Given the description of an element on the screen output the (x, y) to click on. 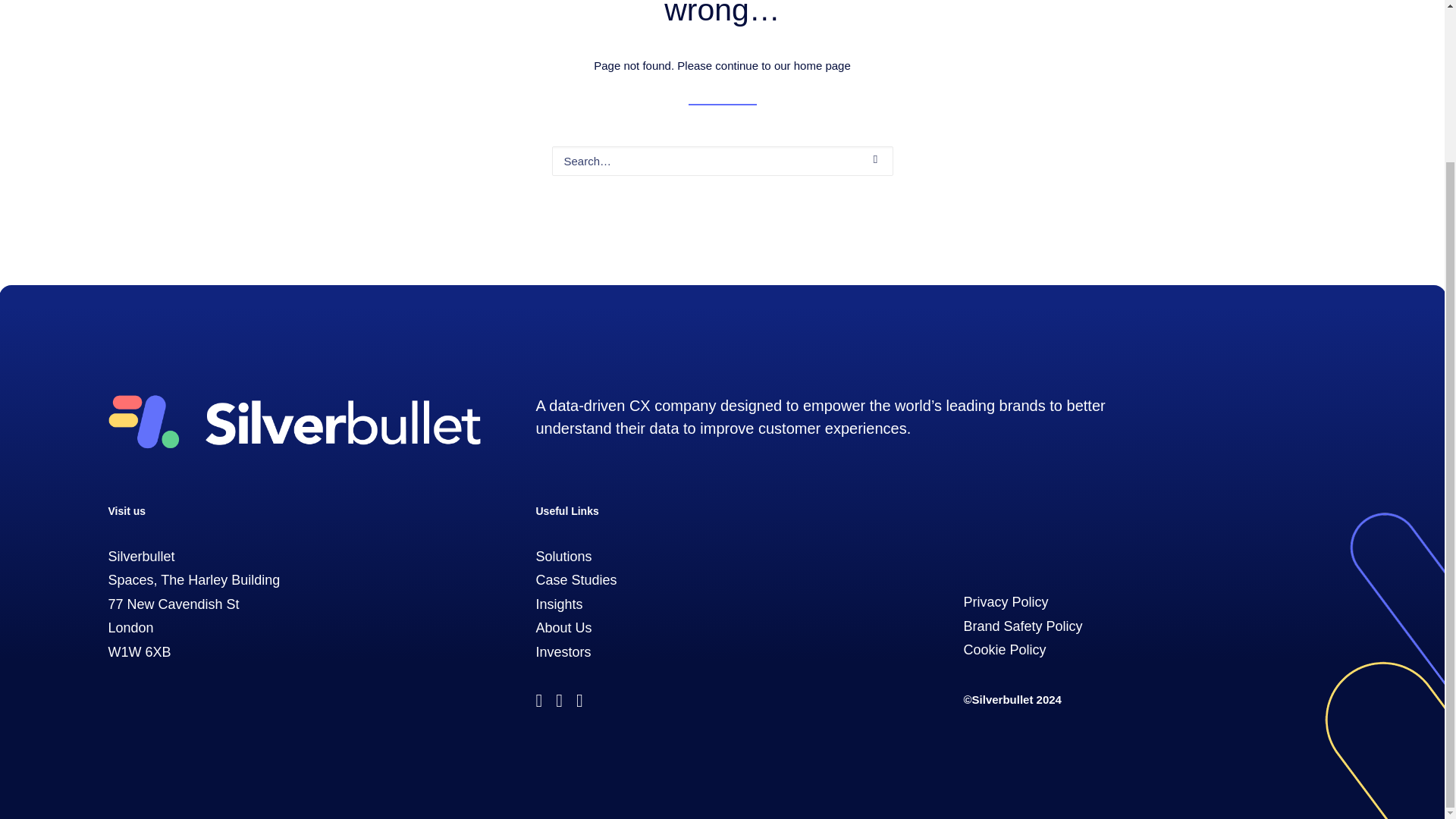
About Us (563, 627)
Cookie Policy (1003, 649)
Insights (558, 604)
home page (821, 65)
Case Studies (575, 580)
Investors (563, 652)
Case Studies (575, 580)
Solutions (563, 556)
Brand Safety Policy (1021, 626)
About Us (563, 627)
